Given the description of an element on the screen output the (x, y) to click on. 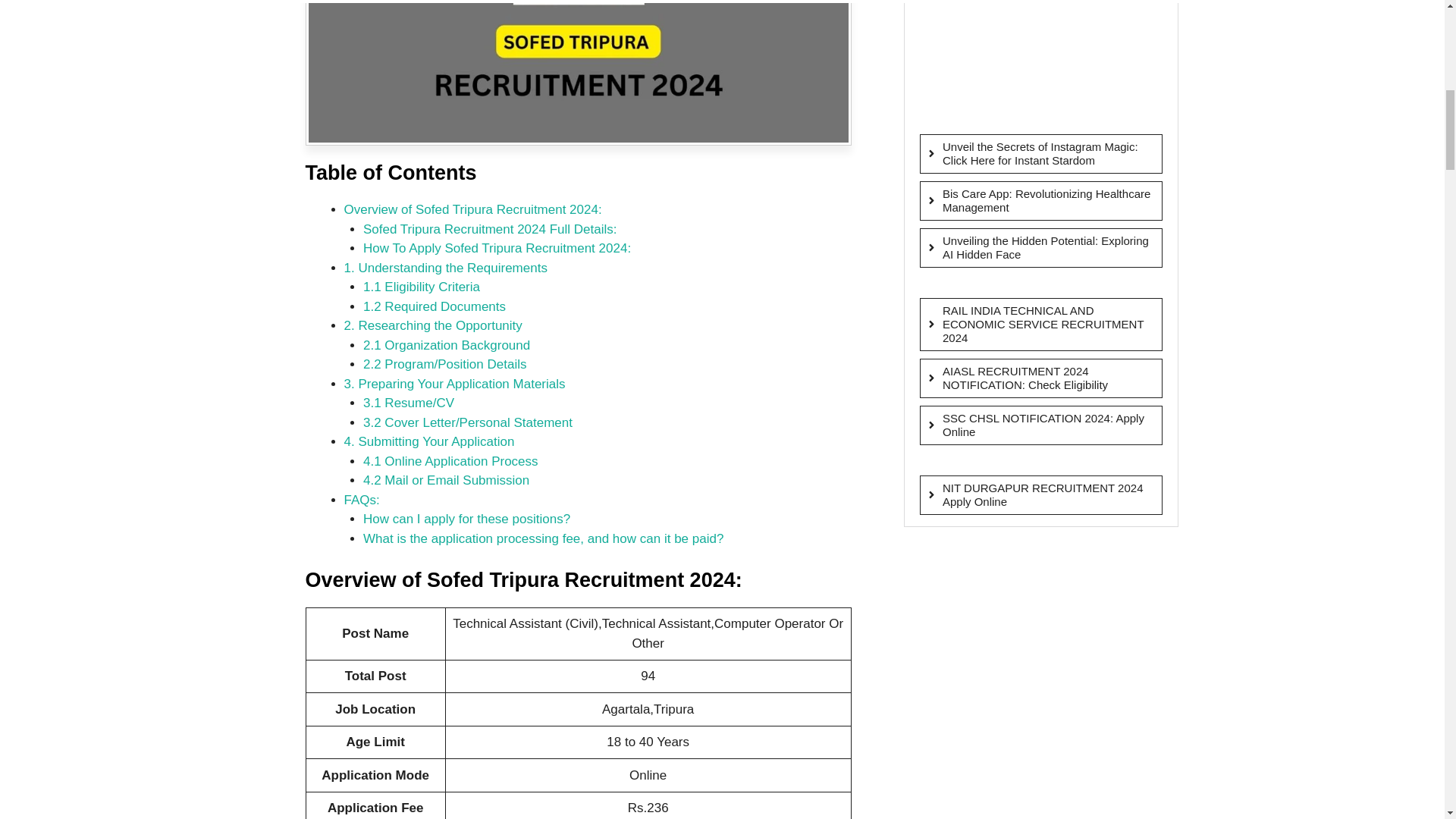
4.2 Mail or Email Submission (445, 480)
1.2 Required Documents (433, 306)
1. Understanding the Requirements (445, 268)
2. Researching the Opportunity (432, 325)
Advertisement (1036, 59)
Sofed Tripura Recruitment 2024 Full Details: (489, 228)
Overview of Sofed Tripura Recruitment 2024: (472, 209)
How To Apply Sofed Tripura Recruitment 2024: (496, 247)
FAQs: (361, 499)
4.1 Online Application Process (450, 461)
2.1 Organization Background (445, 345)
1.1 Eligibility Criteria (421, 287)
How can I apply for these positions? (466, 518)
3. Preparing Your Application Materials (454, 383)
